Given the description of an element on the screen output the (x, y) to click on. 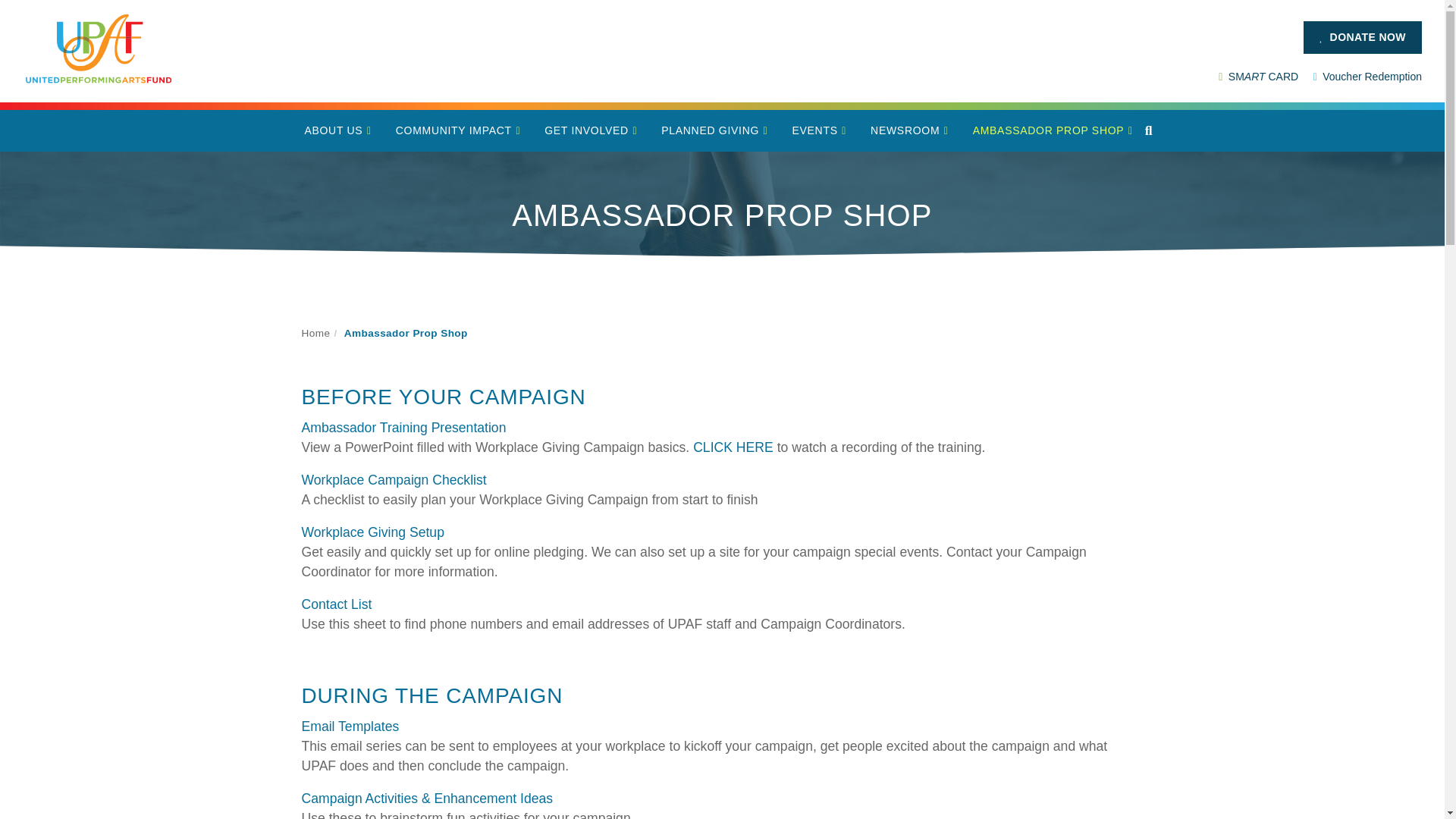
  SMART CARD (1258, 76)
GET INVOLVED (590, 130)
PLANNED GIVING (713, 130)
EVENTS (818, 130)
COMMUNITY IMPACT (458, 130)
  DONATE NOW (1362, 36)
ABOUT US (337, 130)
  Voucher Redemption (1367, 76)
